Given the description of an element on the screen output the (x, y) to click on. 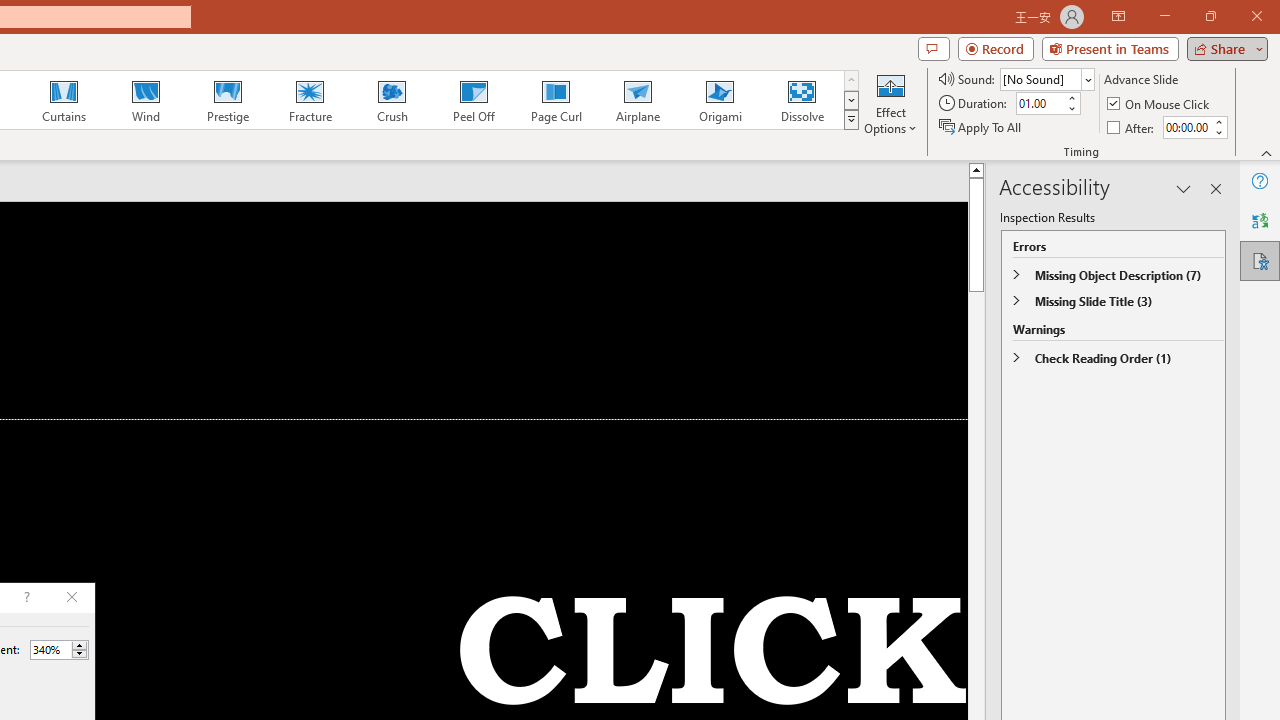
Wind (145, 100)
On Mouse Click (1159, 103)
Transition Effects (850, 120)
Duration (1039, 103)
Crush (391, 100)
Airplane (637, 100)
